Given the description of an element on the screen output the (x, y) to click on. 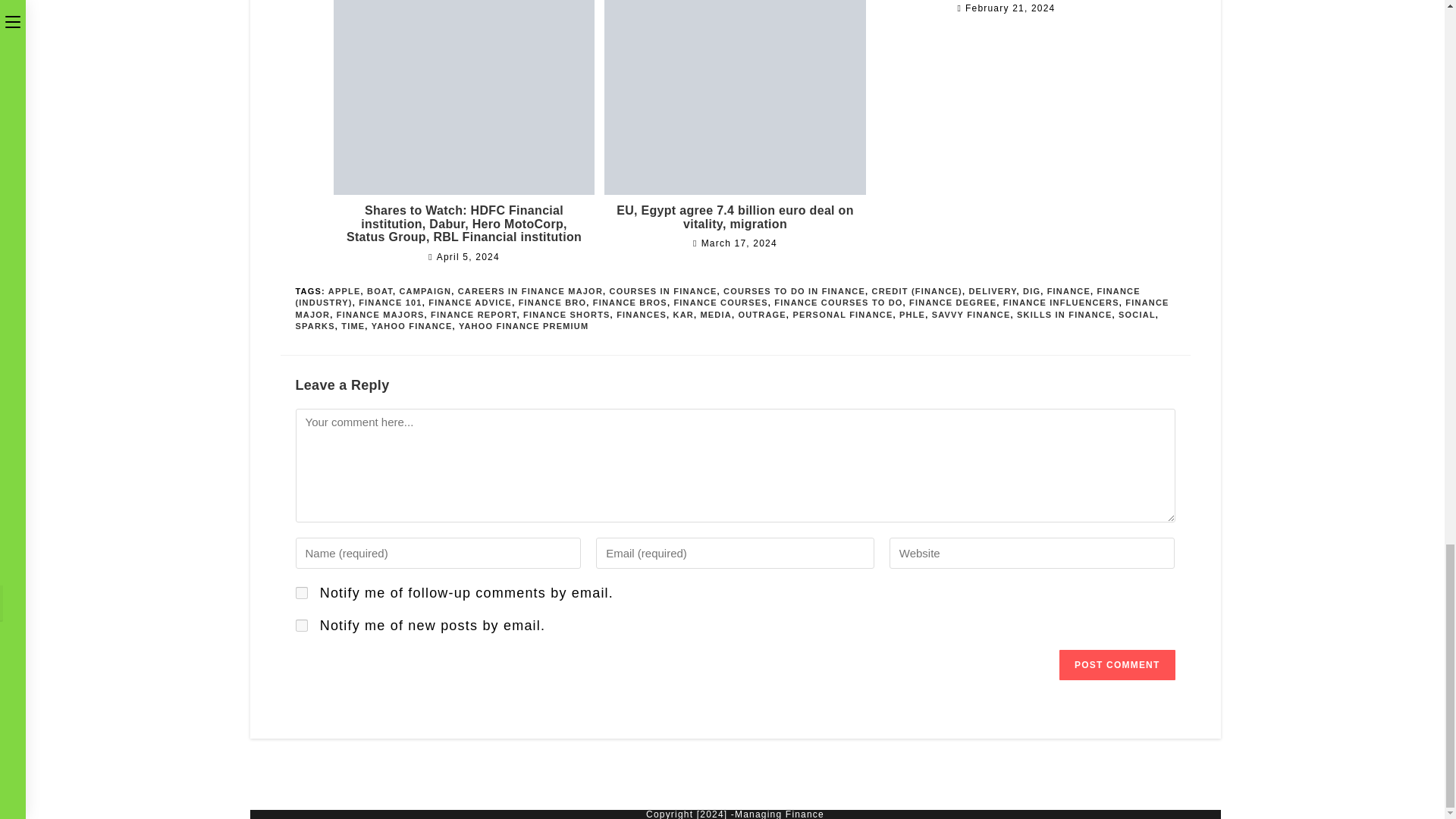
subscribe (301, 592)
subscribe (301, 625)
Post Comment (1116, 665)
